Given the description of an element on the screen output the (x, y) to click on. 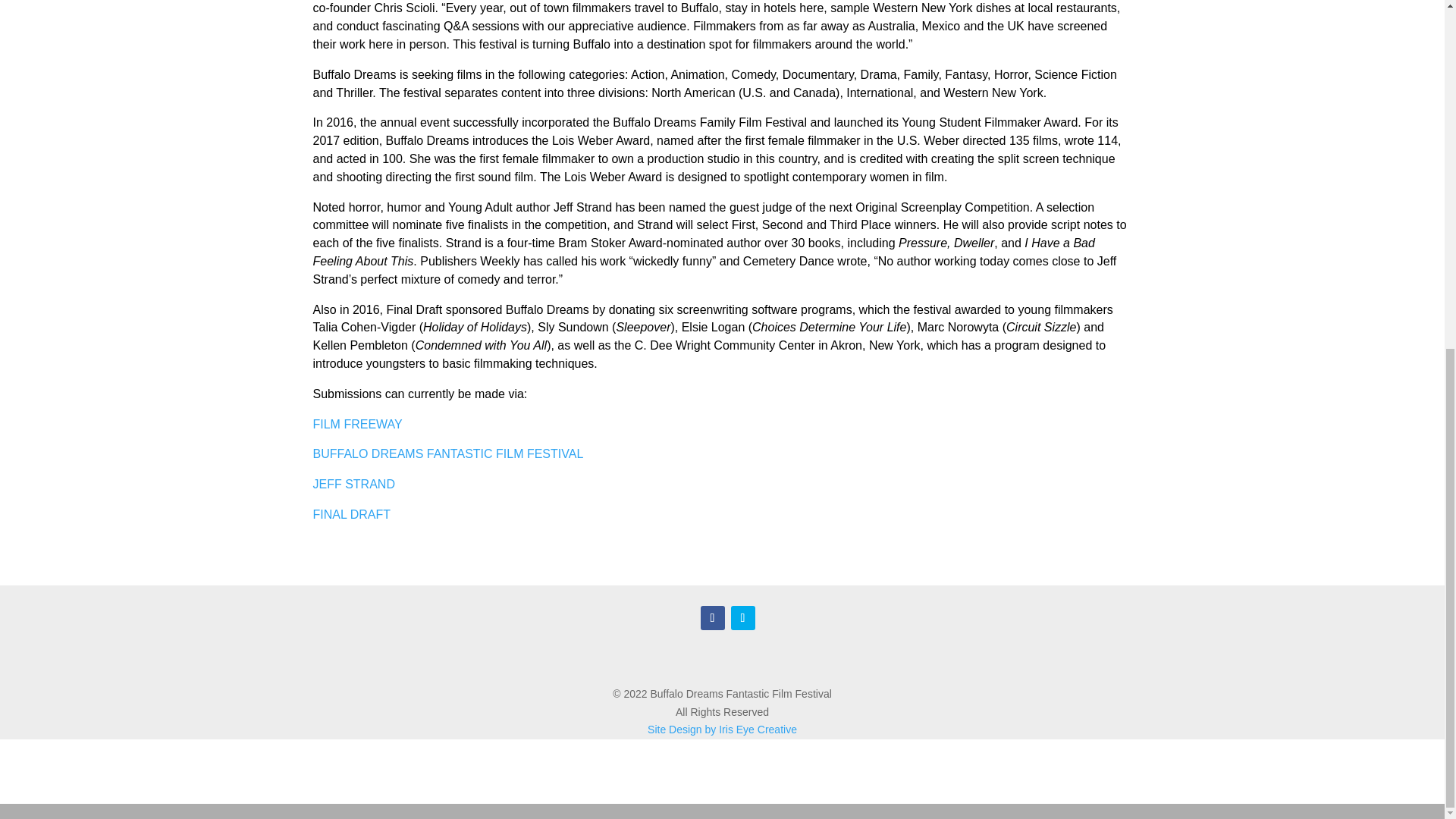
JEFF STRAND (353, 483)
Follow on Twitter (742, 617)
FINAL DRAFT (351, 513)
Site Design by Iris Eye Creative (721, 729)
Follow on Facebook (712, 617)
FILM FREEWAY (357, 423)
BUFFALO DREAMS FANTASTIC FILM FESTIVAL (448, 453)
